Given the description of an element on the screen output the (x, y) to click on. 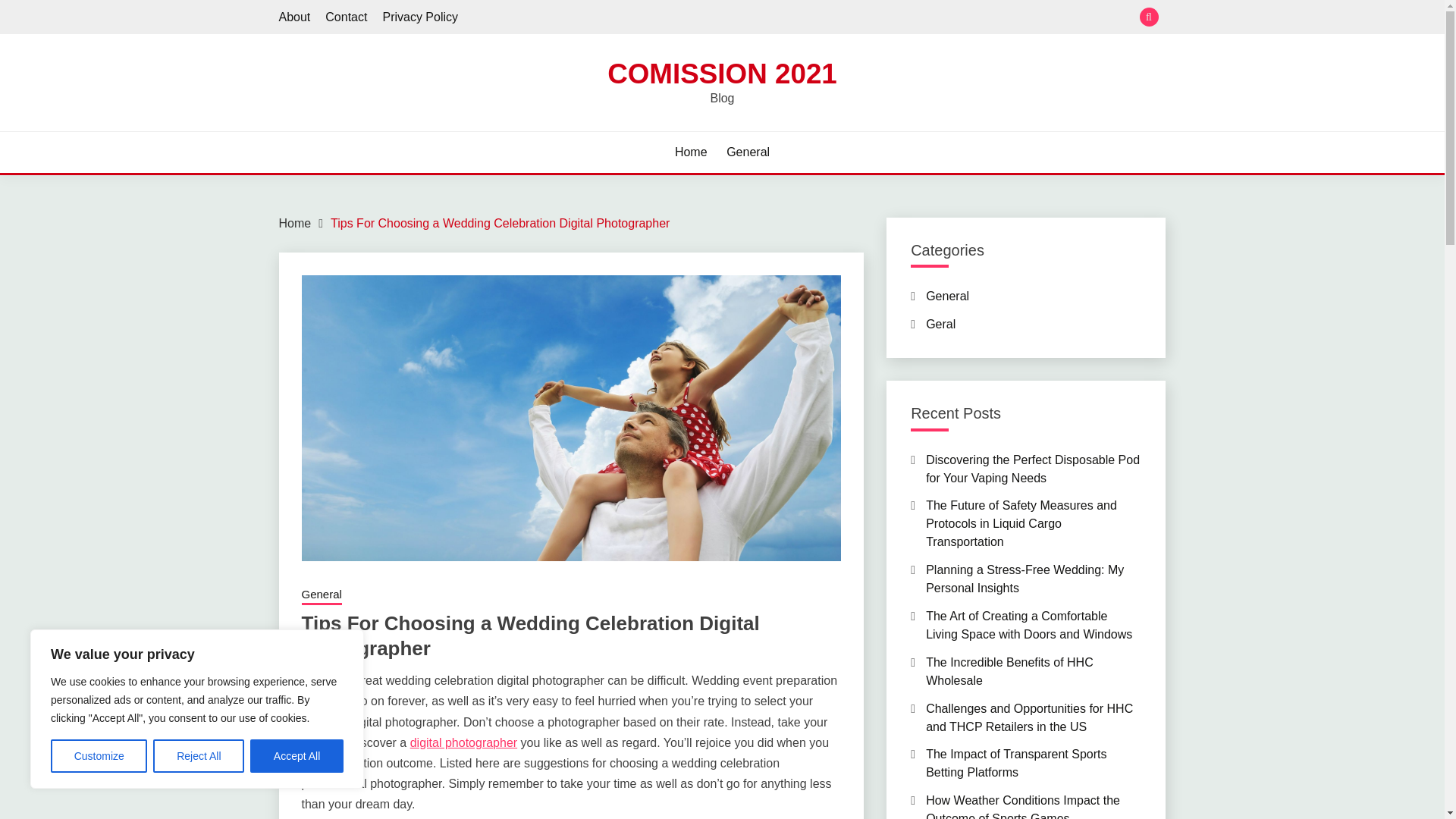
Privacy Policy (419, 16)
Home (691, 152)
COMISSION 2021 (722, 73)
Home (295, 223)
Accept All (296, 756)
Tips For Choosing a Wedding Celebration Digital Photographer (499, 223)
Contact (345, 16)
Customize (98, 756)
General (321, 596)
About (295, 16)
Reject All (198, 756)
General (748, 152)
digital photographer (463, 742)
